Given the description of an element on the screen output the (x, y) to click on. 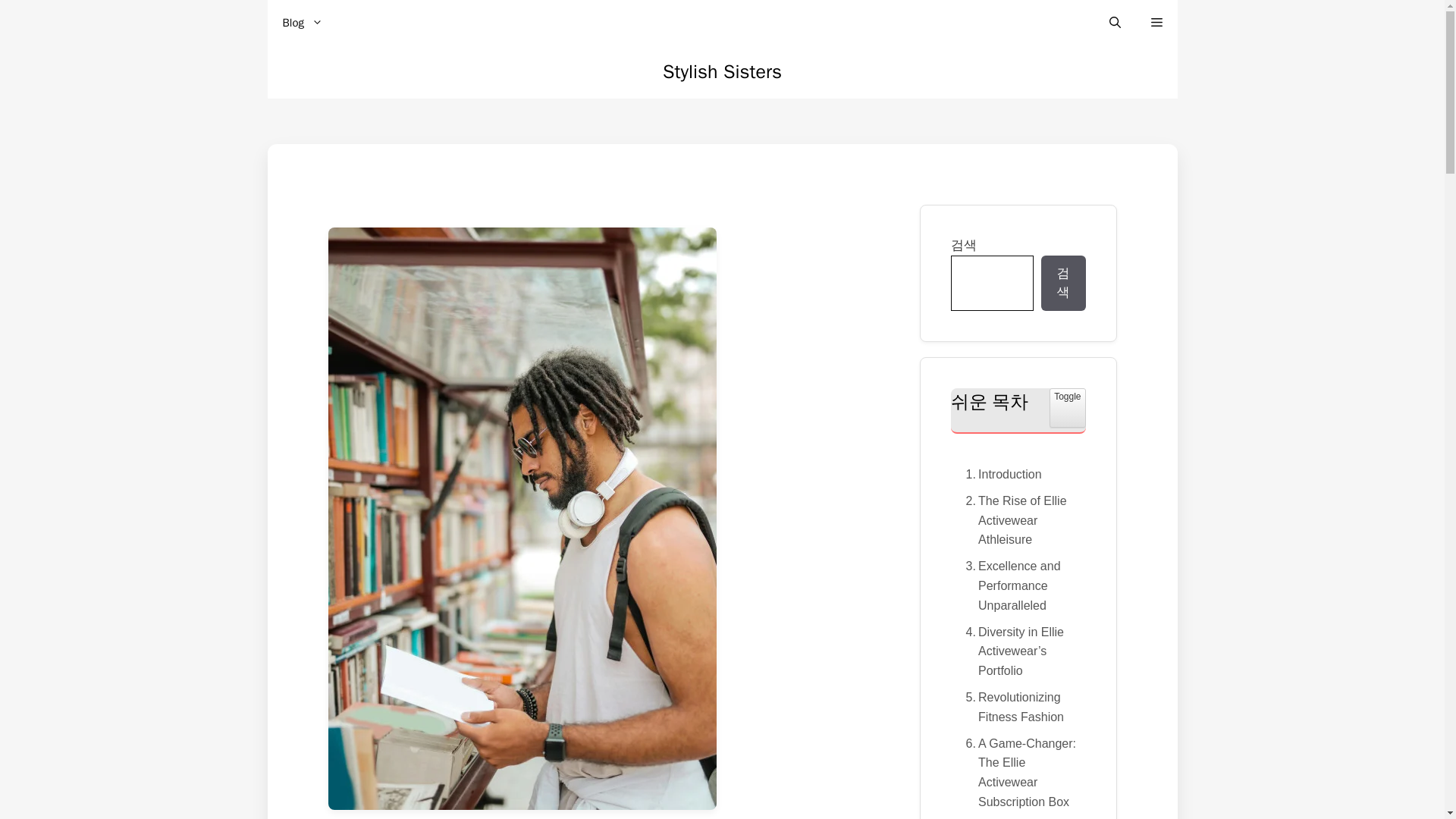
Introduction (1000, 474)
The Rise of Ellie Activewear Athleisure (1018, 520)
Excellence and Performance Unparalleled (1018, 585)
Blog (301, 22)
Excellence and Performance Unparalleled (1018, 585)
The Rise of Ellie Activewear Athleisure (1018, 520)
Introduction (1000, 474)
Stylish Sisters (721, 71)
A Game-Changer: The Ellie Activewear Subscription Box (1066, 407)
